Given the description of an element on the screen output the (x, y) to click on. 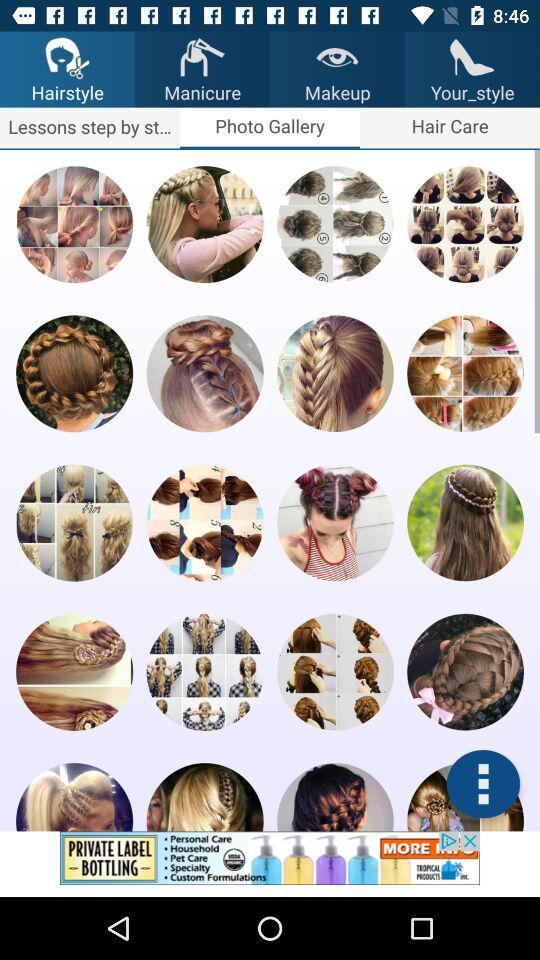
gallery image (74, 224)
